Given the description of an element on the screen output the (x, y) to click on. 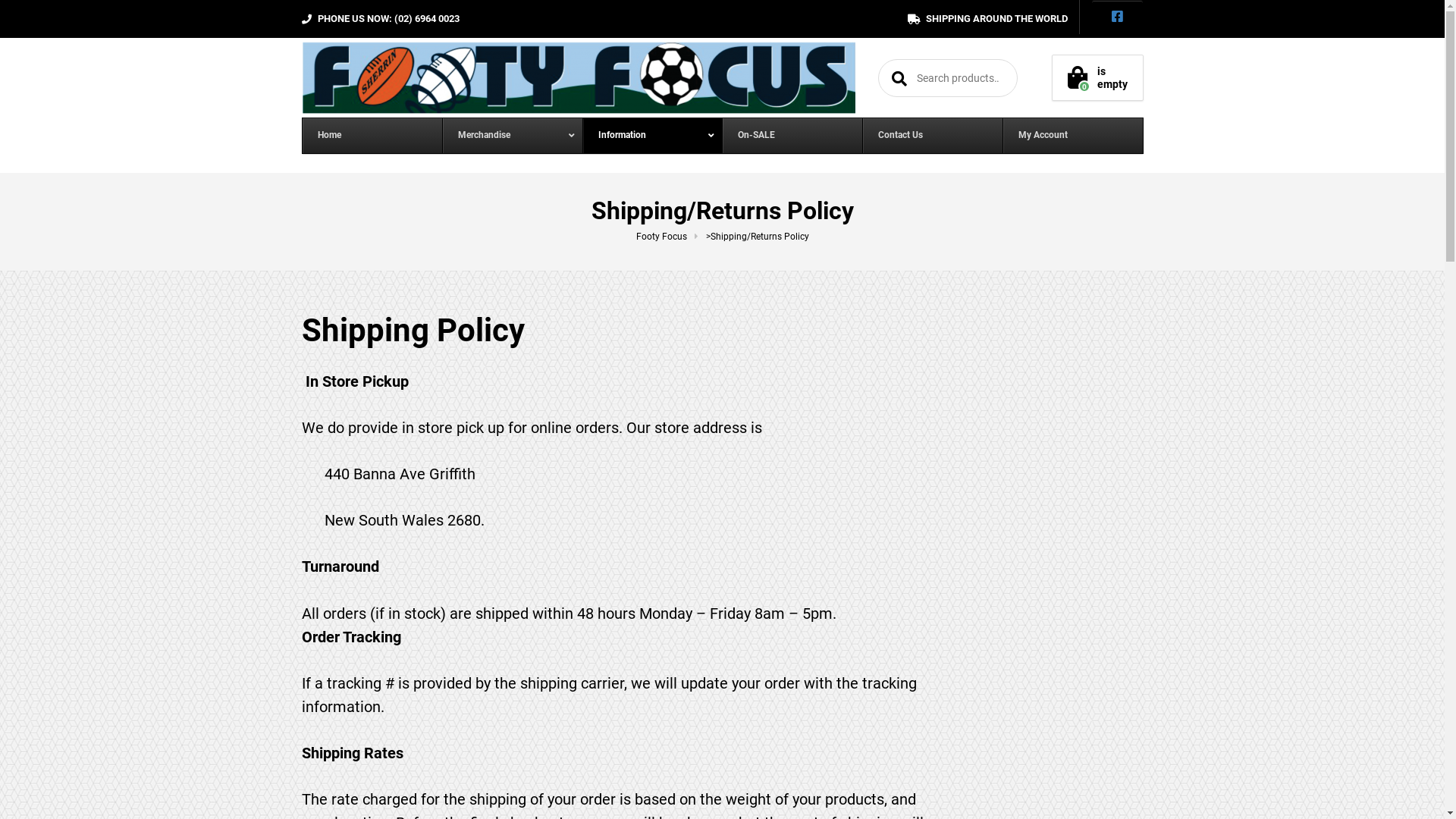
Footy Focus Element type: text (670, 236)
Shipping/Returns Policy Element type: text (758, 236)
Information Element type: text (652, 135)
Search Element type: text (896, 77)
On-SALE Element type: text (791, 135)
My Account Element type: text (1072, 135)
Home Element type: text (371, 135)
0
is empty Element type: text (1097, 77)
Contact Us Element type: text (932, 135)
Merchandise Element type: text (512, 135)
